Given the description of an element on the screen output the (x, y) to click on. 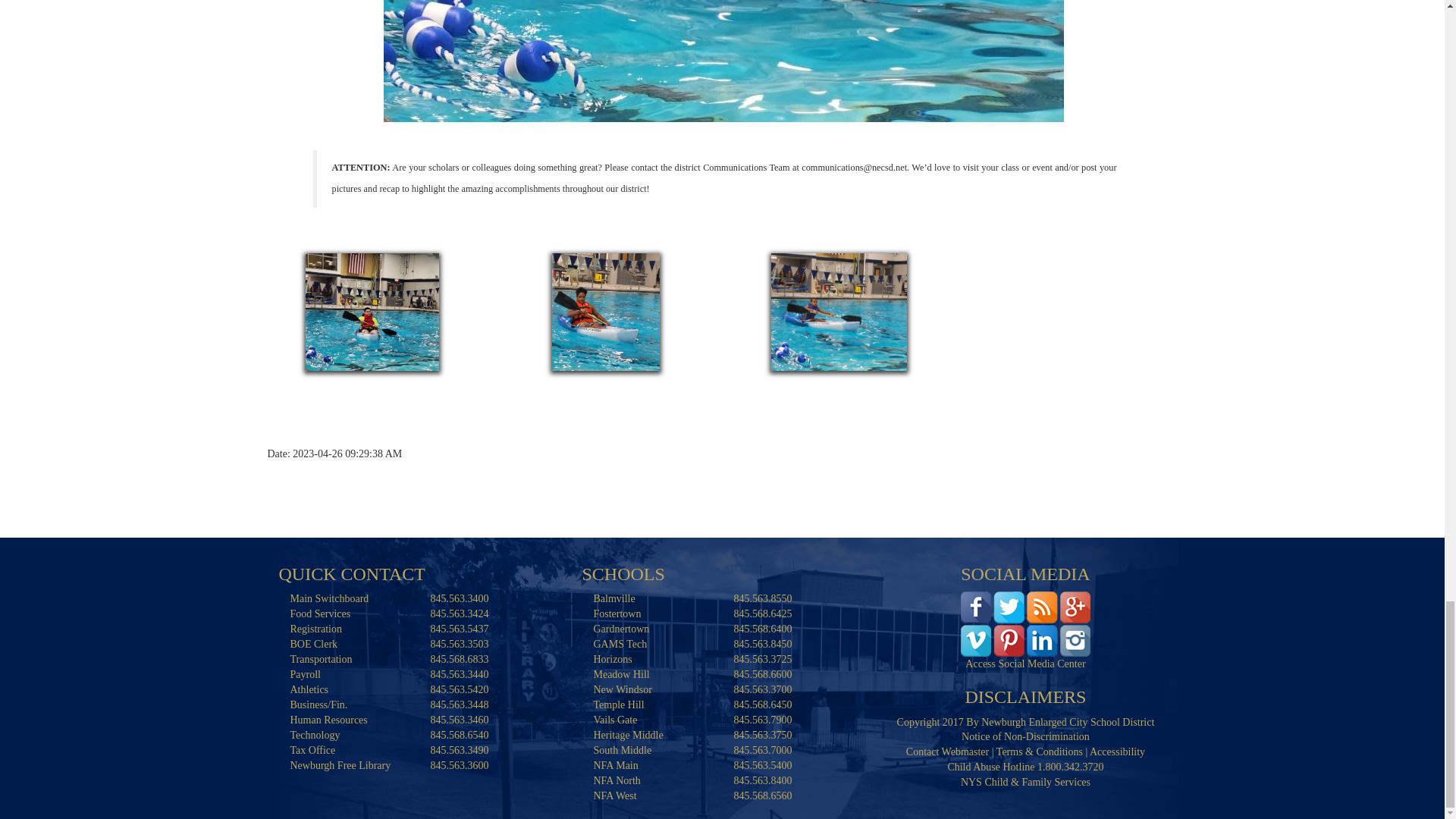
Access Social Media Center (1025, 622)
